Given the description of an element on the screen output the (x, y) to click on. 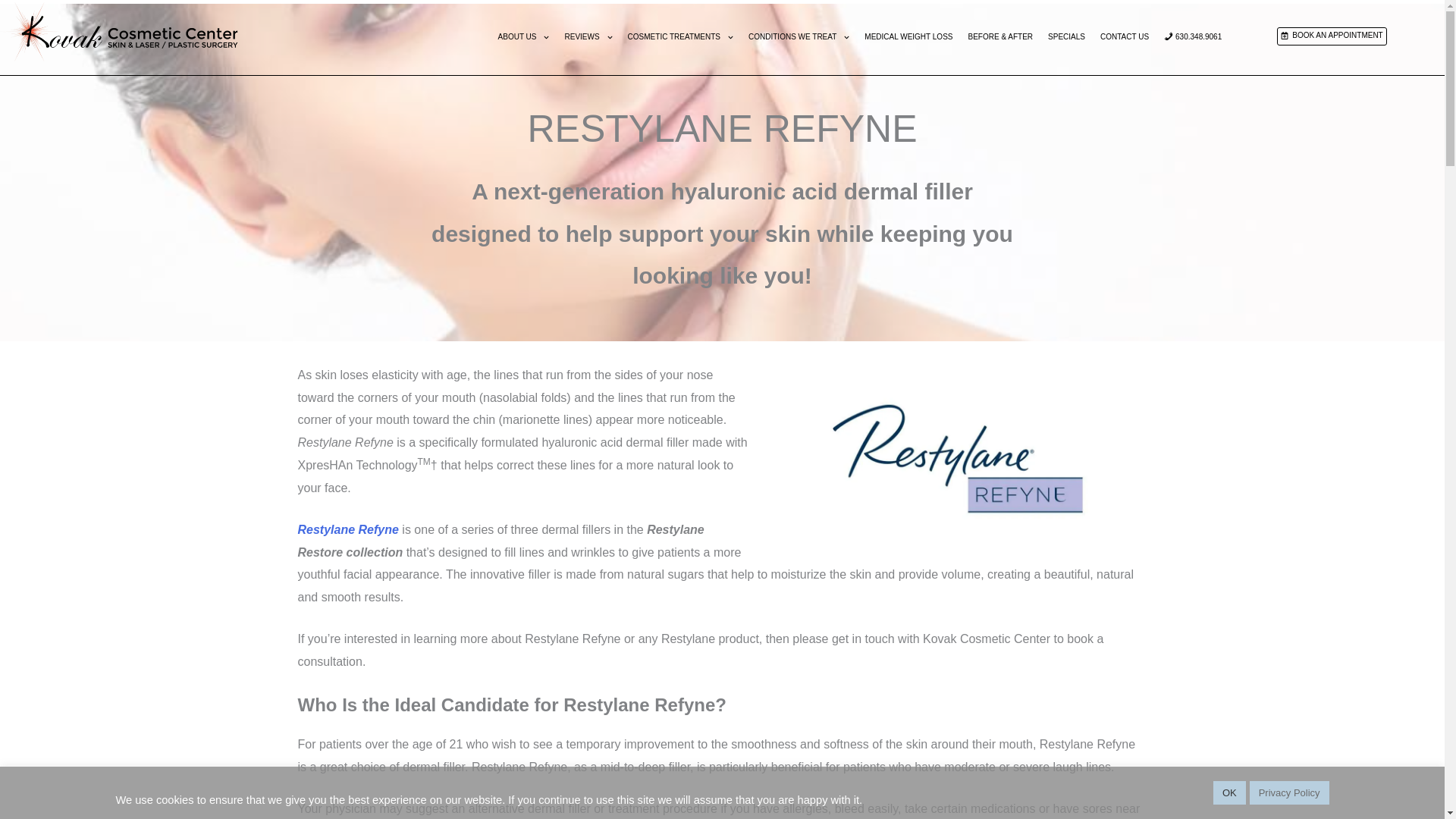
REVIEWS (588, 37)
COSMETIC TREATMENTS (680, 37)
ABOUT US (523, 37)
